Given the description of an element on the screen output the (x, y) to click on. 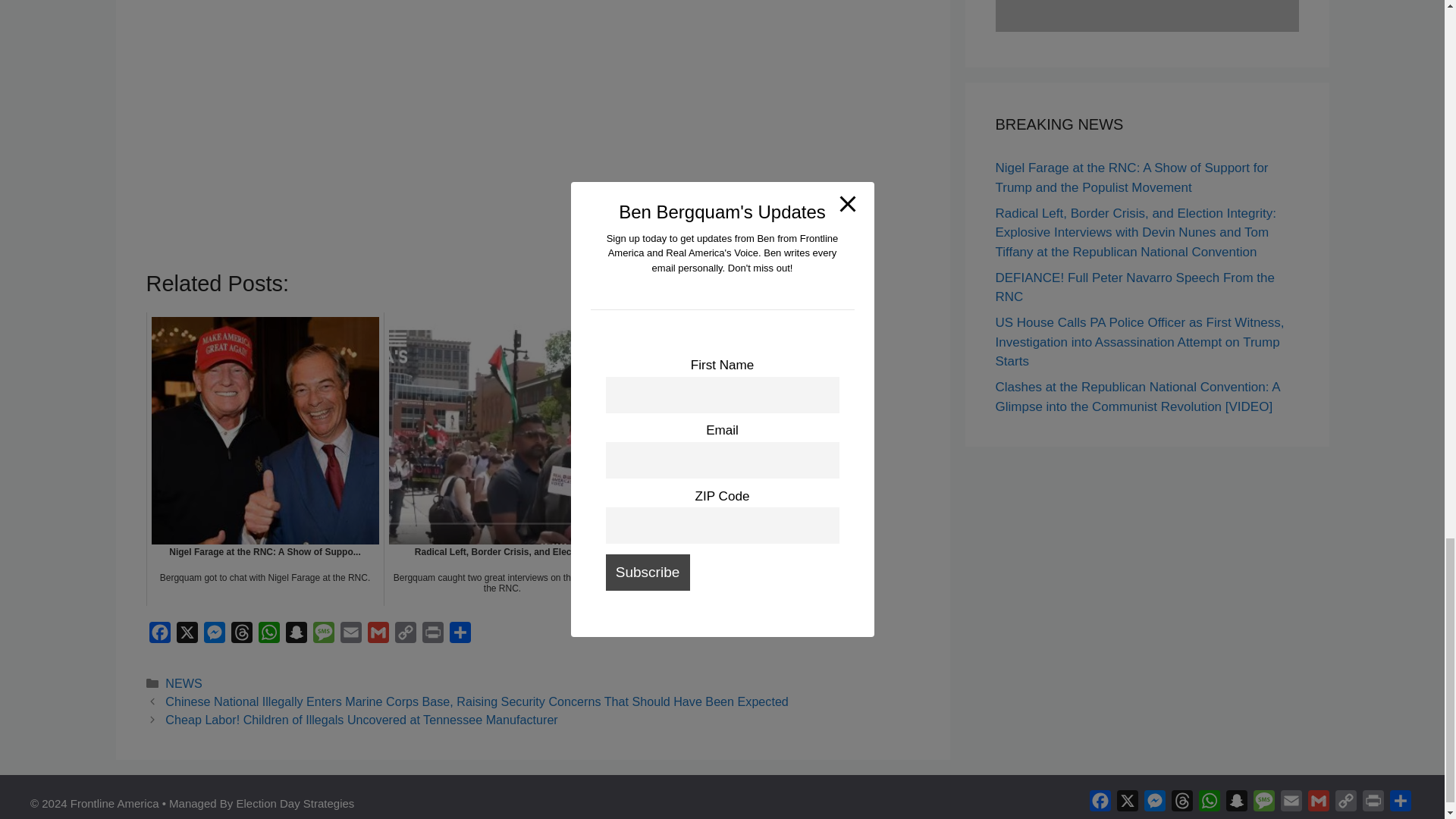
WhatsApp (268, 635)
Snapchat (295, 635)
X (186, 635)
Print (432, 635)
Threads (240, 635)
Share (459, 635)
Message (322, 635)
Gmail (377, 635)
NEWS (183, 683)
WhatsApp (268, 635)
Copy Link (405, 635)
Facebook (159, 635)
Messenger (213, 635)
Email (350, 635)
